Given the description of an element on the screen output the (x, y) to click on. 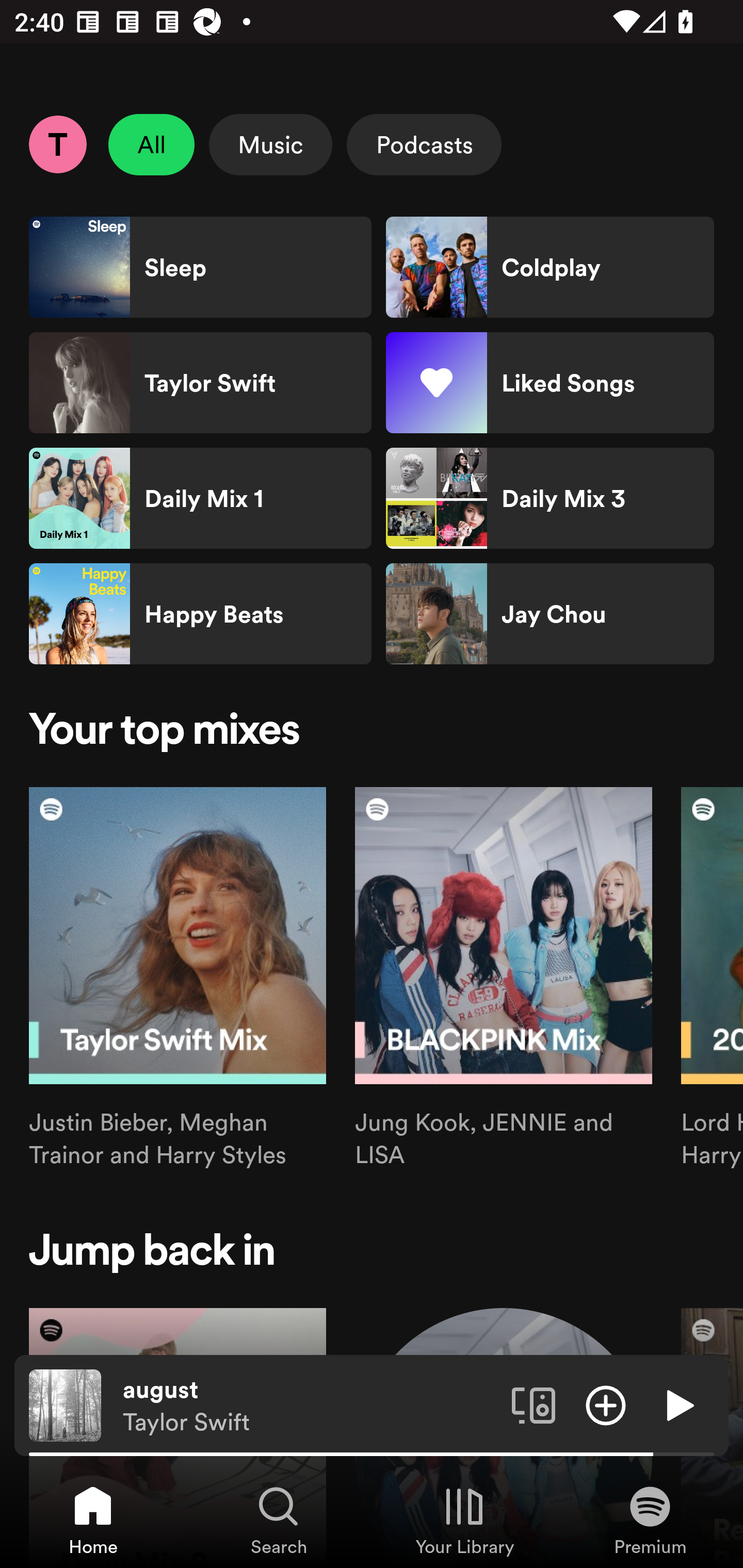
Profile (57, 144)
All Unselect All (151, 144)
Music Select Music (270, 144)
Podcasts Select Podcasts (423, 144)
Sleep Shortcut Sleep (199, 267)
Coldplay Shortcut Coldplay (549, 267)
Taylor Swift Shortcut Taylor Swift (199, 382)
Liked Songs Shortcut Liked Songs (549, 382)
Daily Mix 1 Shortcut Daily Mix 1 (199, 498)
Daily Mix 3 Shortcut Daily Mix 3 (549, 498)
Happy Beats Shortcut Happy Beats (199, 613)
Jay Chou Shortcut Jay Chou (549, 613)
august Taylor Swift (309, 1405)
The cover art of the currently playing track (64, 1404)
Connect to a device. Opens the devices menu (533, 1404)
Add item (605, 1404)
Play (677, 1404)
Home, Tab 1 of 4 Home Home (92, 1519)
Search, Tab 2 of 4 Search Search (278, 1519)
Your Library, Tab 3 of 4 Your Library Your Library (464, 1519)
Premium, Tab 4 of 4 Premium Premium (650, 1519)
